Given the description of an element on the screen output the (x, y) to click on. 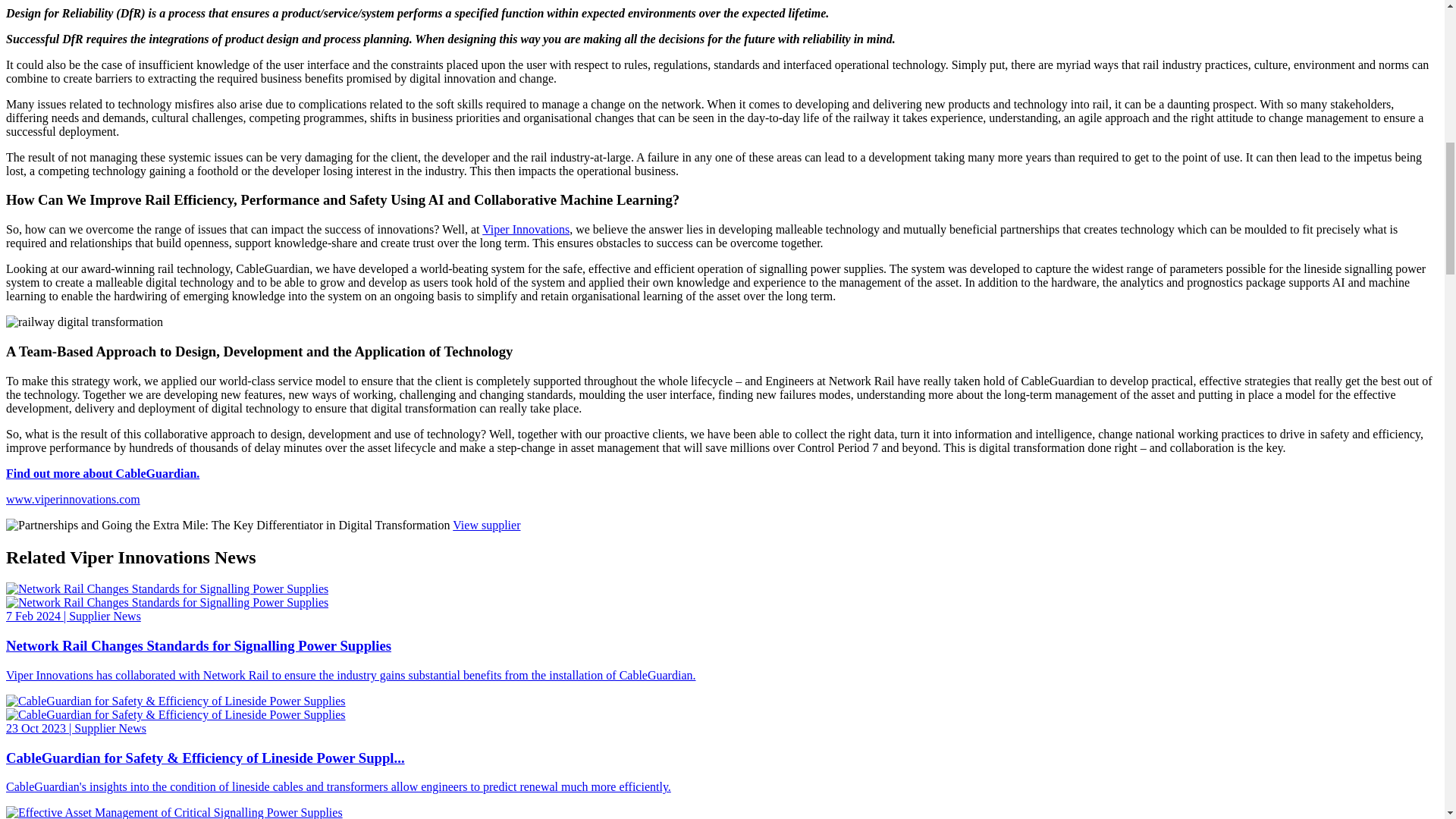
View supplier (485, 524)
Find out more about CableGuardian. (102, 472)
www.viperinnovations.com (72, 499)
Viper Innovations (525, 228)
